Given the description of an element on the screen output the (x, y) to click on. 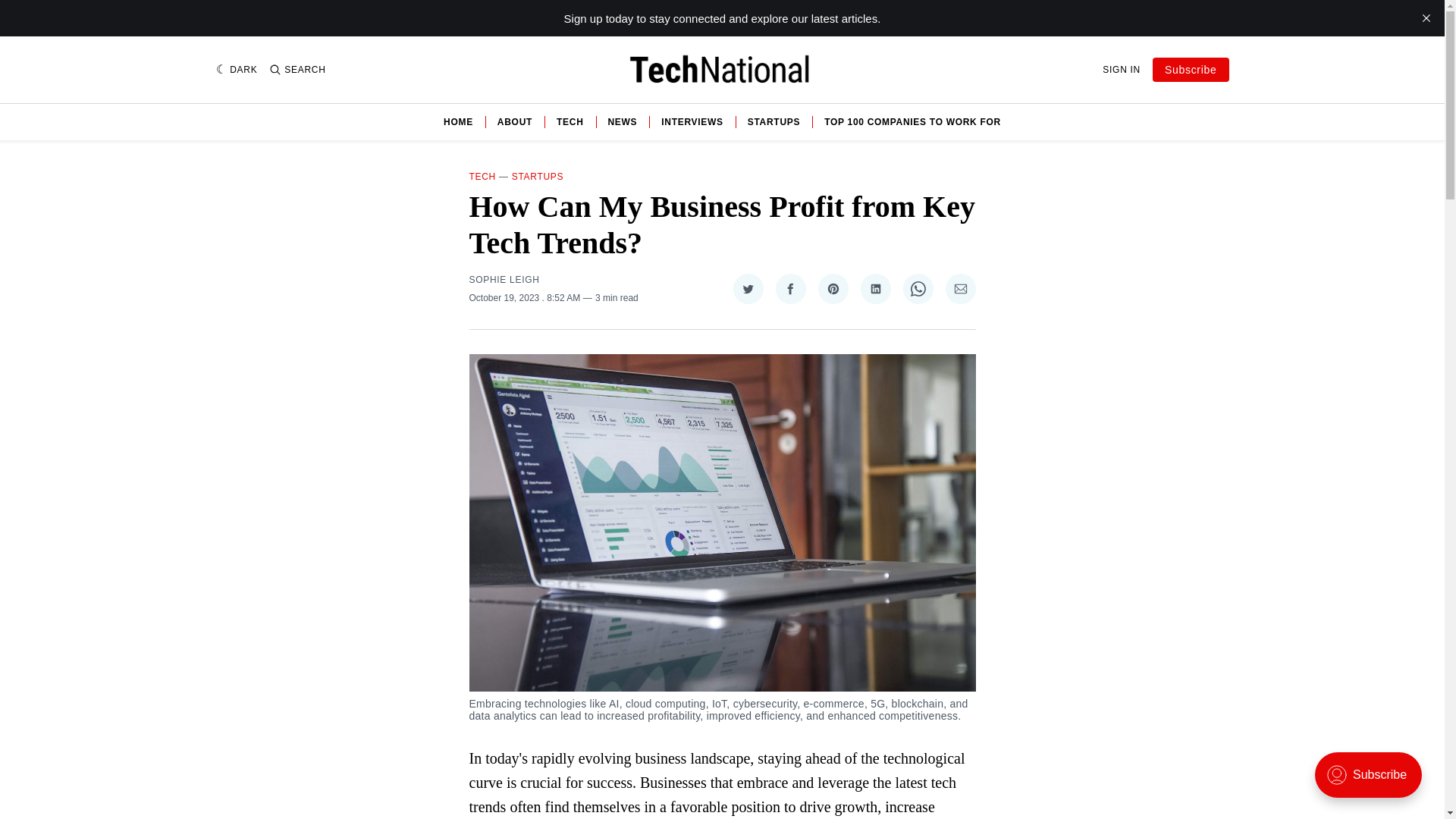
SOPHIE LEIGH (503, 279)
NEWS (622, 121)
Share on Twitter (747, 288)
TOP 100 COMPANIES TO WORK FOR (912, 121)
Share on LinkedIn (874, 288)
Subscribe (1190, 69)
TECH (481, 176)
DARK (236, 69)
Share via Email (959, 288)
STARTUPS (773, 121)
INTERVIEWS (691, 121)
ABOUT (514, 121)
SEARCH (296, 69)
Share on Facebook (789, 288)
Share on Pinterest (831, 288)
